Given the description of an element on the screen output the (x, y) to click on. 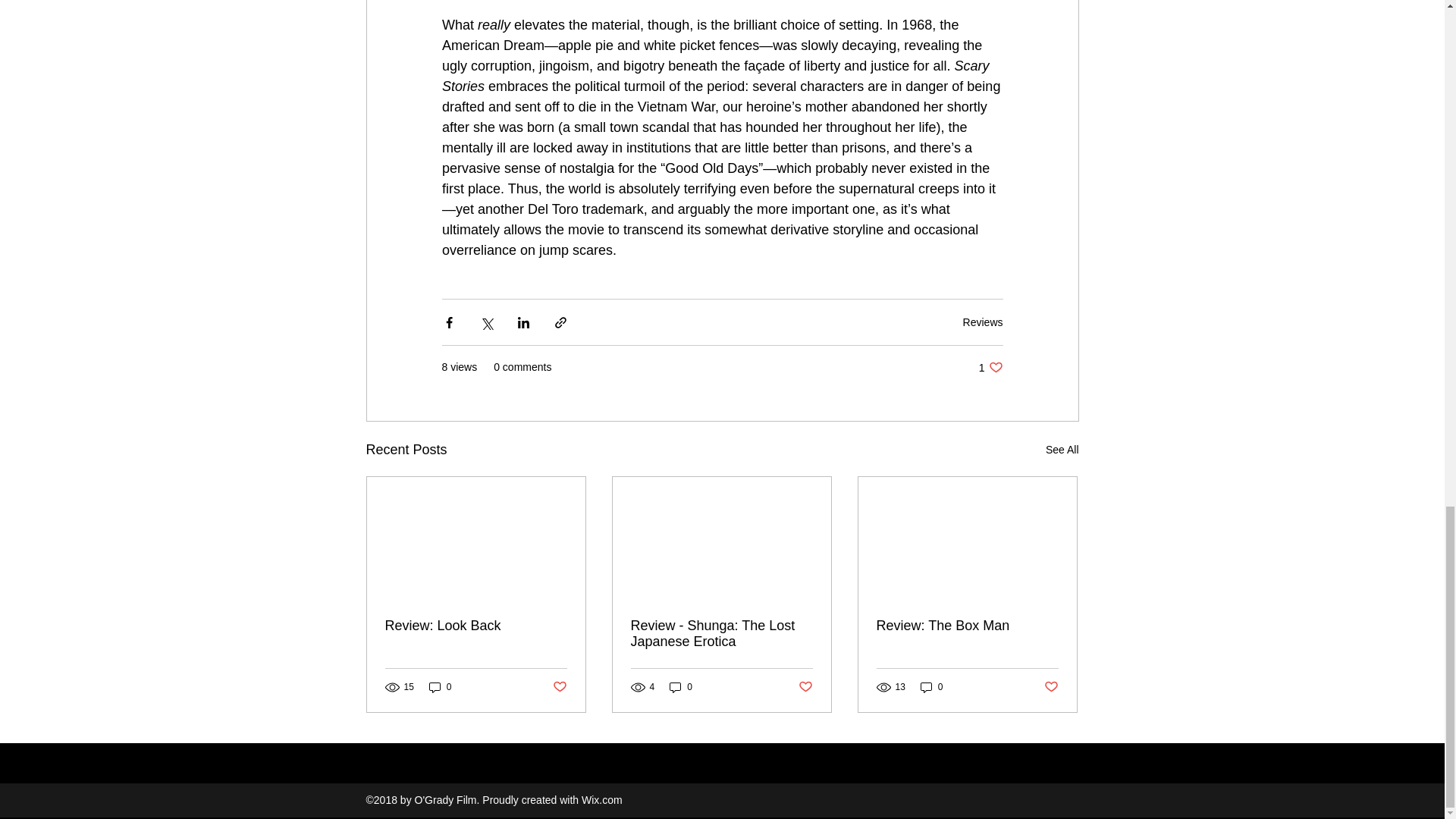
Post not marked as liked (558, 687)
Reviews (982, 322)
Review: Look Back (476, 625)
0 (681, 687)
Post not marked as liked (804, 687)
Review - Shunga: The Lost Japanese Erotica (721, 634)
See All (990, 367)
0 (1061, 449)
